Given the description of an element on the screen output the (x, y) to click on. 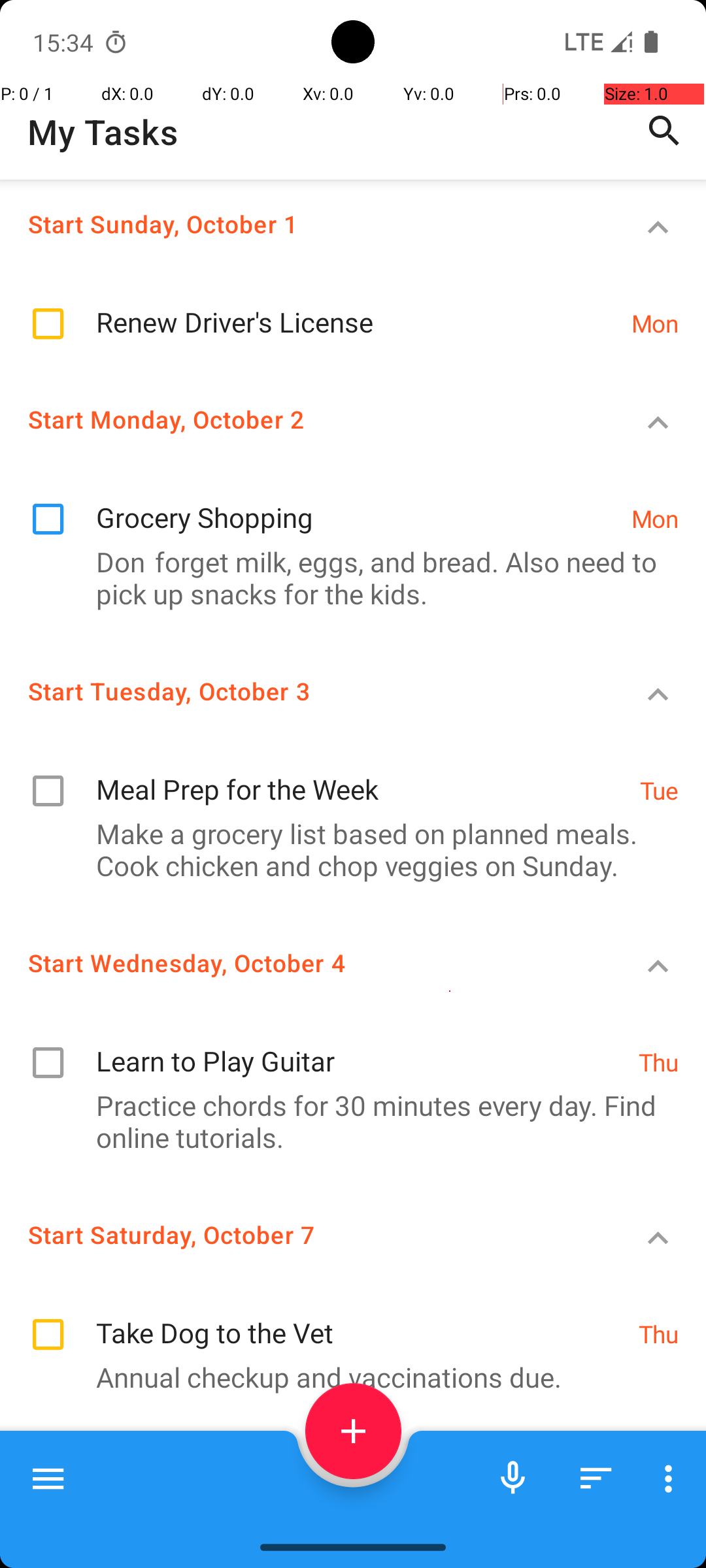
Start Sunday, October 1 Element type: android.widget.TextView (304, 223)
Start Monday, October 2 Element type: android.widget.TextView (304, 419)
Start Tuesday, October 3 Element type: android.widget.TextView (304, 690)
Start Wednesday, October 4 Element type: android.widget.TextView (304, 962)
Start Saturday, October 7 Element type: android.widget.TextView (304, 1234)
Start Monday Element type: android.widget.TextView (304, 1474)
Don	 forget milk, eggs, and bread. Also need to pick up snacks for the kids. Element type: android.widget.TextView (346, 577)
Make a grocery list based on planned meals. Cook chicken and chop veggies on Sunday. Element type: android.widget.TextView (346, 848)
Practice chords for 30 minutes every day. Find online tutorials. Element type: android.widget.TextView (346, 1120)
Annual checkup and vaccinations due. Element type: android.widget.TextView (346, 1376)
